Given the description of an element on the screen output the (x, y) to click on. 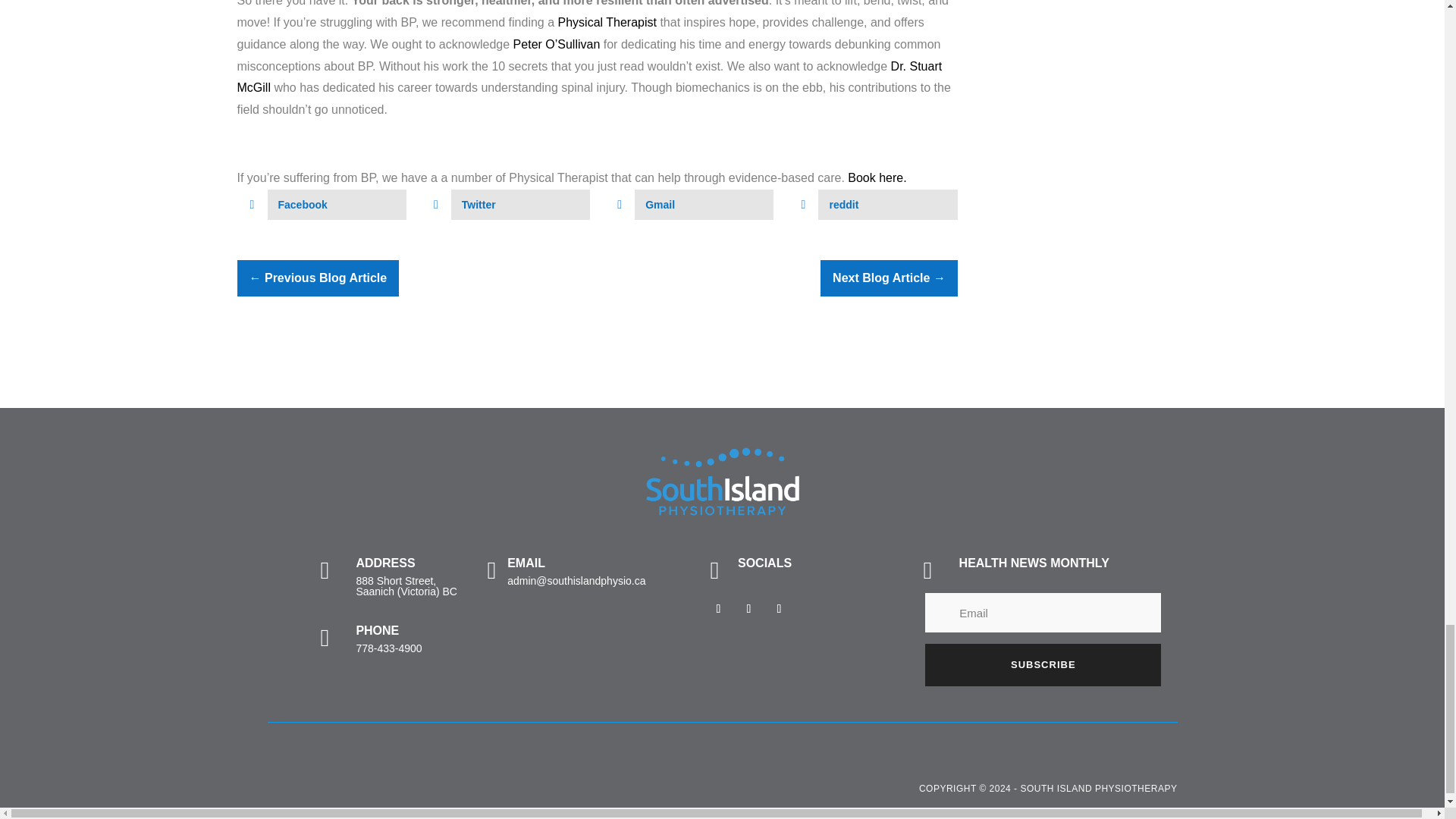
Follow on Facebook (718, 608)
Follow on Instagram (748, 608)
Follow on Youtube (779, 608)
